Given the description of an element on the screen output the (x, y) to click on. 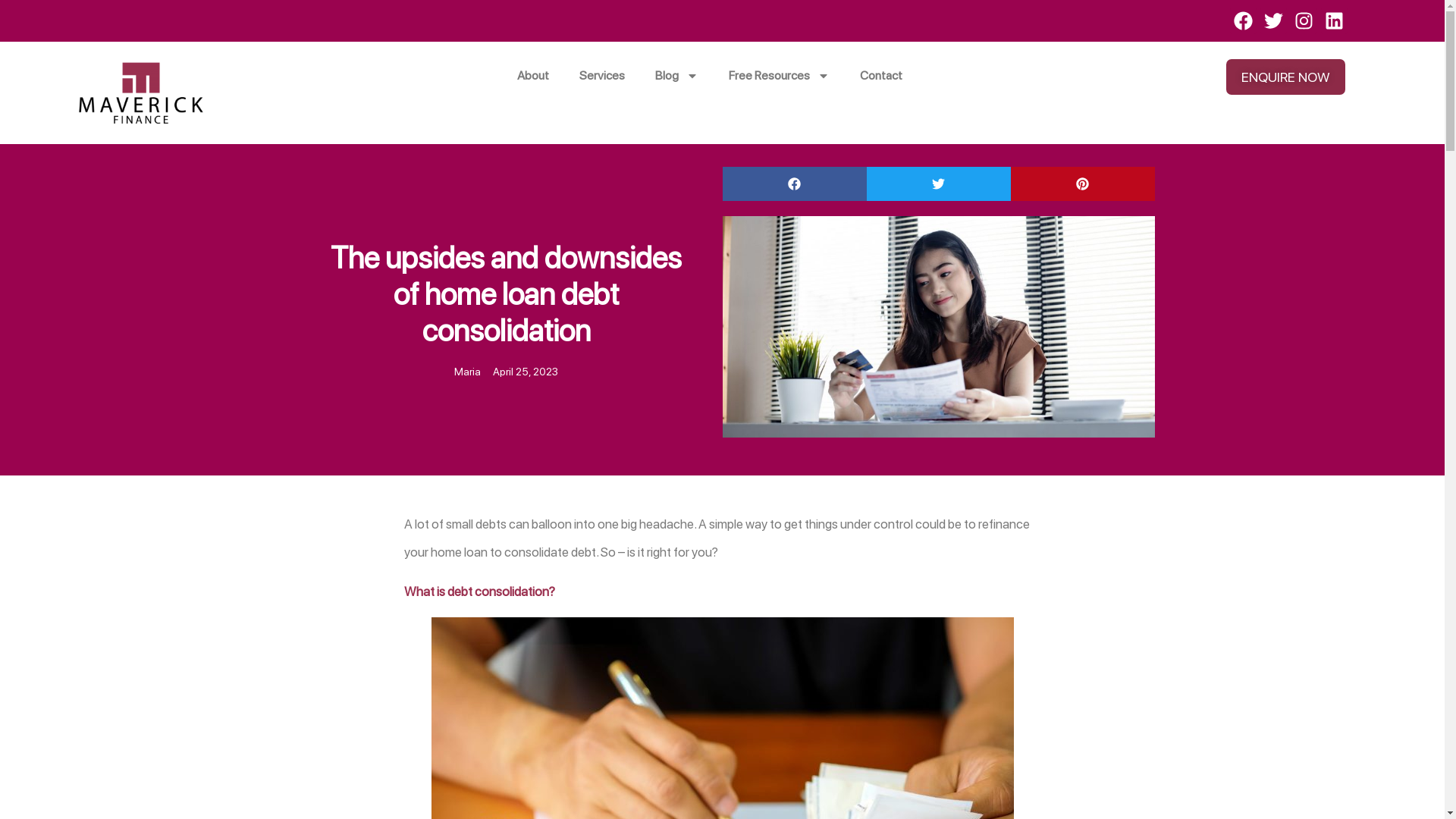
Contact Element type: text (880, 75)
Services Element type: text (602, 75)
Asian woman holding credit card and bill with smile. Element type: hover (937, 326)
About Element type: text (533, 75)
April 25, 2023 Element type: text (525, 371)
Maria Element type: text (467, 371)
ENQUIRE NOW Element type: text (1285, 76)
Free Resources Element type: text (778, 75)
Blog Element type: text (676, 75)
